Given the description of an element on the screen output the (x, y) to click on. 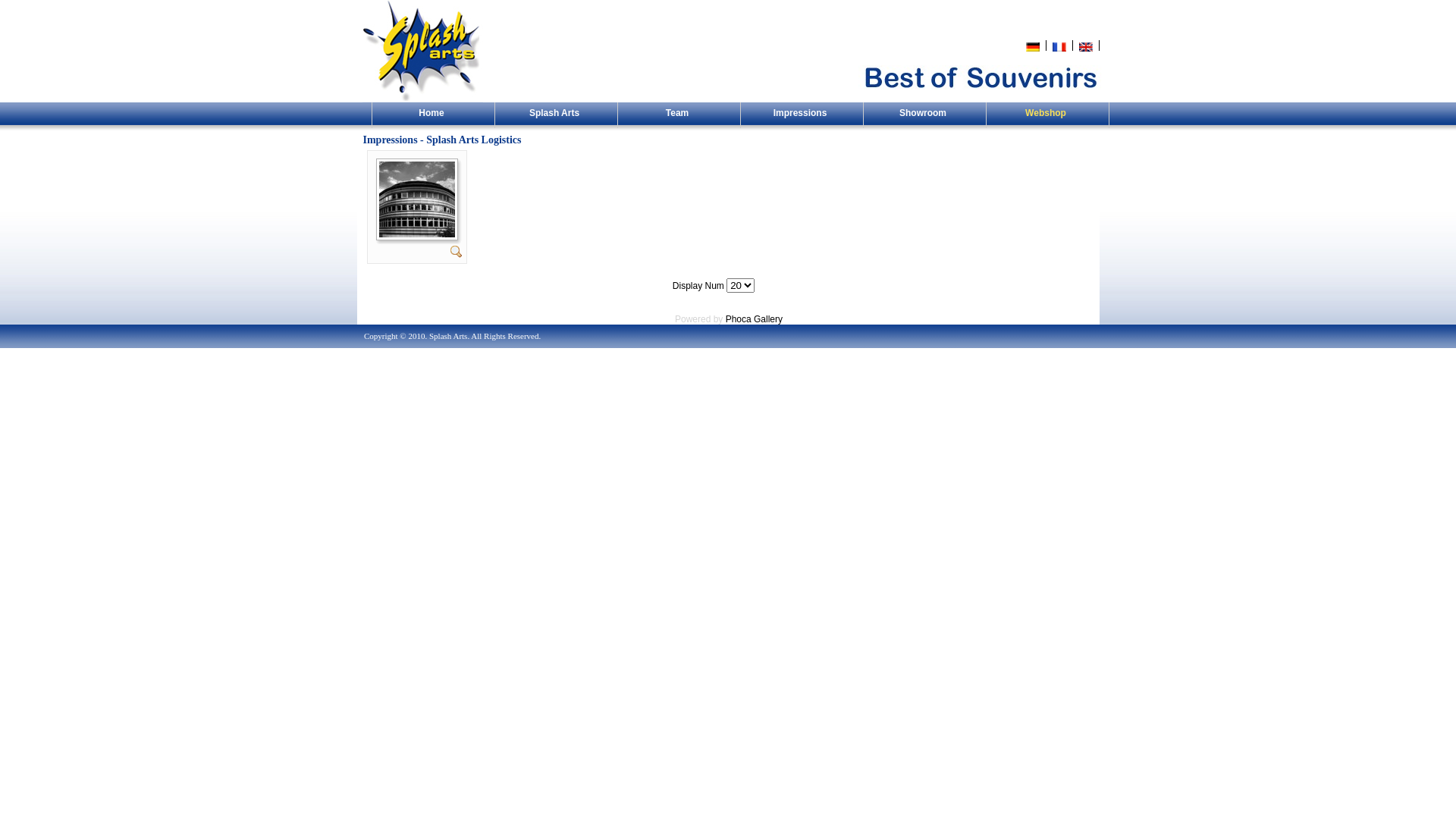
Showroom Element type: text (924, 115)
French (Fr) Element type: hover (1058, 46)
Phoca Element type: text (738, 318)
img_0052 Element type: hover (417, 166)
Webshop Element type: text (1047, 115)
Image Detail Element type: hover (456, 250)
Deutsch (DE-CH-AT) Element type: hover (1032, 46)
Home Element type: text (433, 115)
English (United Kingdom) Element type: hover (1085, 46)
Gallery Element type: text (767, 318)
Impressions Element type: text (801, 115)
Team Element type: text (679, 115)
Splash Arts Element type: text (556, 115)
